Given the description of an element on the screen output the (x, y) to click on. 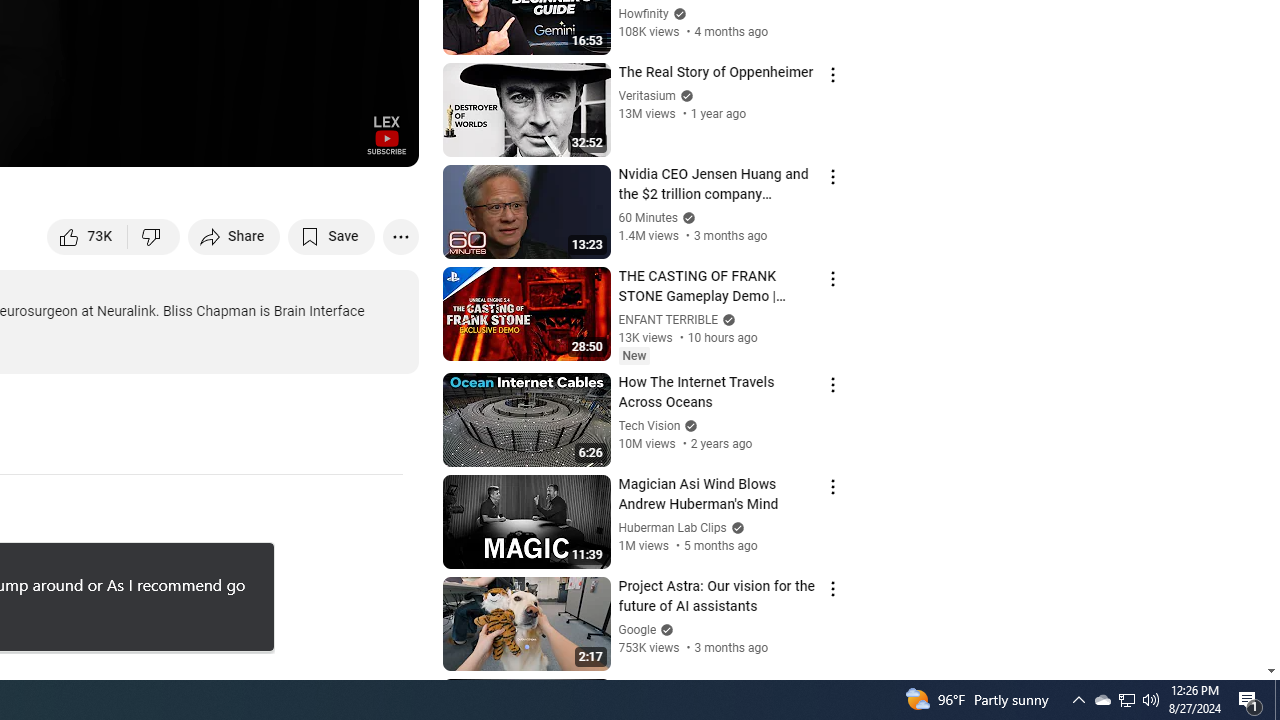
Action menu (832, 690)
like this video along with 73,133 other people (88, 236)
Channel watermark (386, 134)
Autoplay is on (141, 142)
New (634, 356)
